Given the description of an element on the screen output the (x, y) to click on. 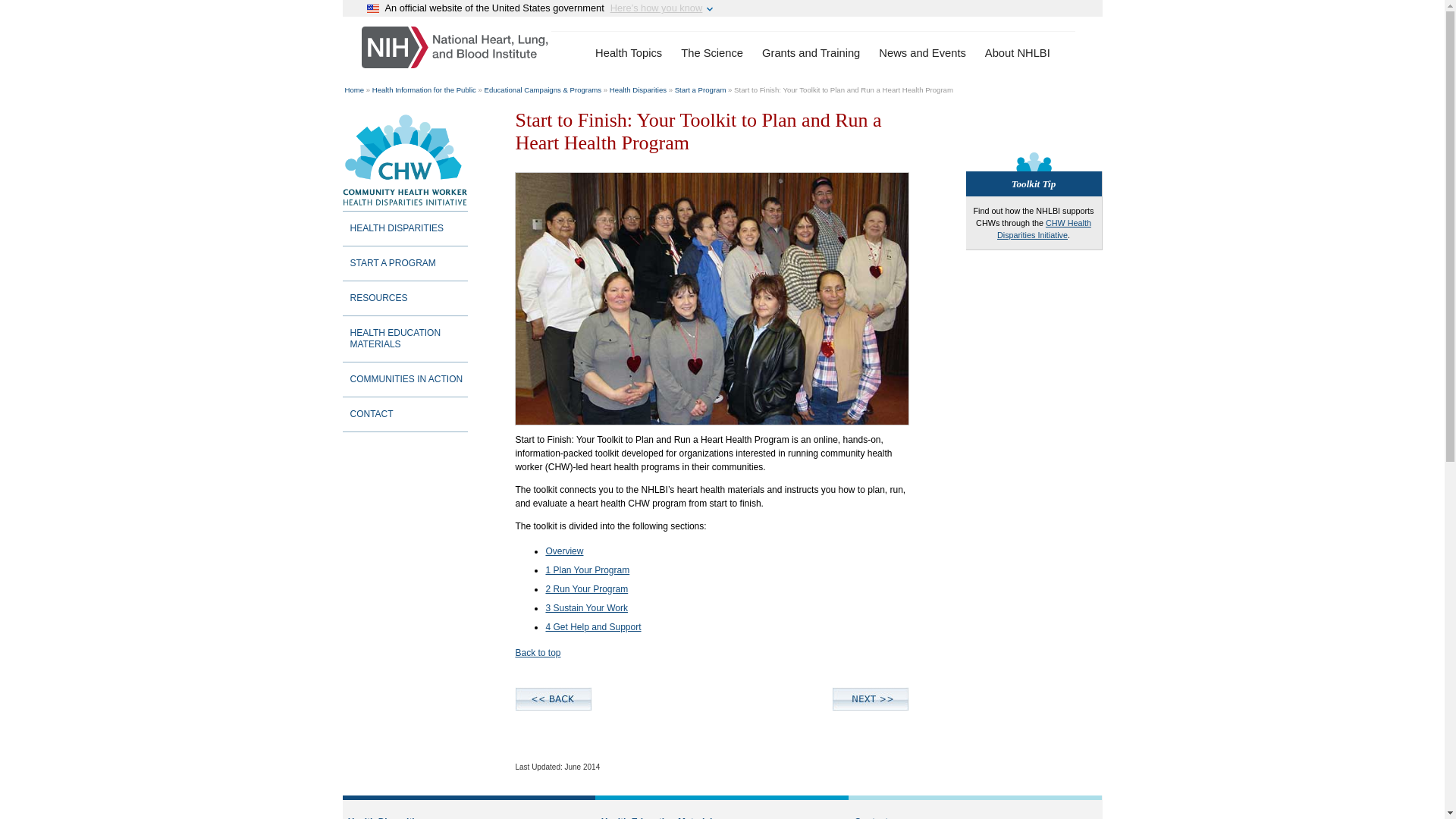
HEALTH DISPARITIES (404, 228)
Health Topics (628, 53)
The Science (711, 53)
Health Disparities (638, 89)
START A PROGRAM (404, 263)
Home (353, 89)
RESOURCES (404, 298)
Start a Program (700, 89)
HEALTH EDUCATION MATERIALS (404, 339)
Health Information for the Public (424, 89)
Home (455, 46)
